Given the description of an element on the screen output the (x, y) to click on. 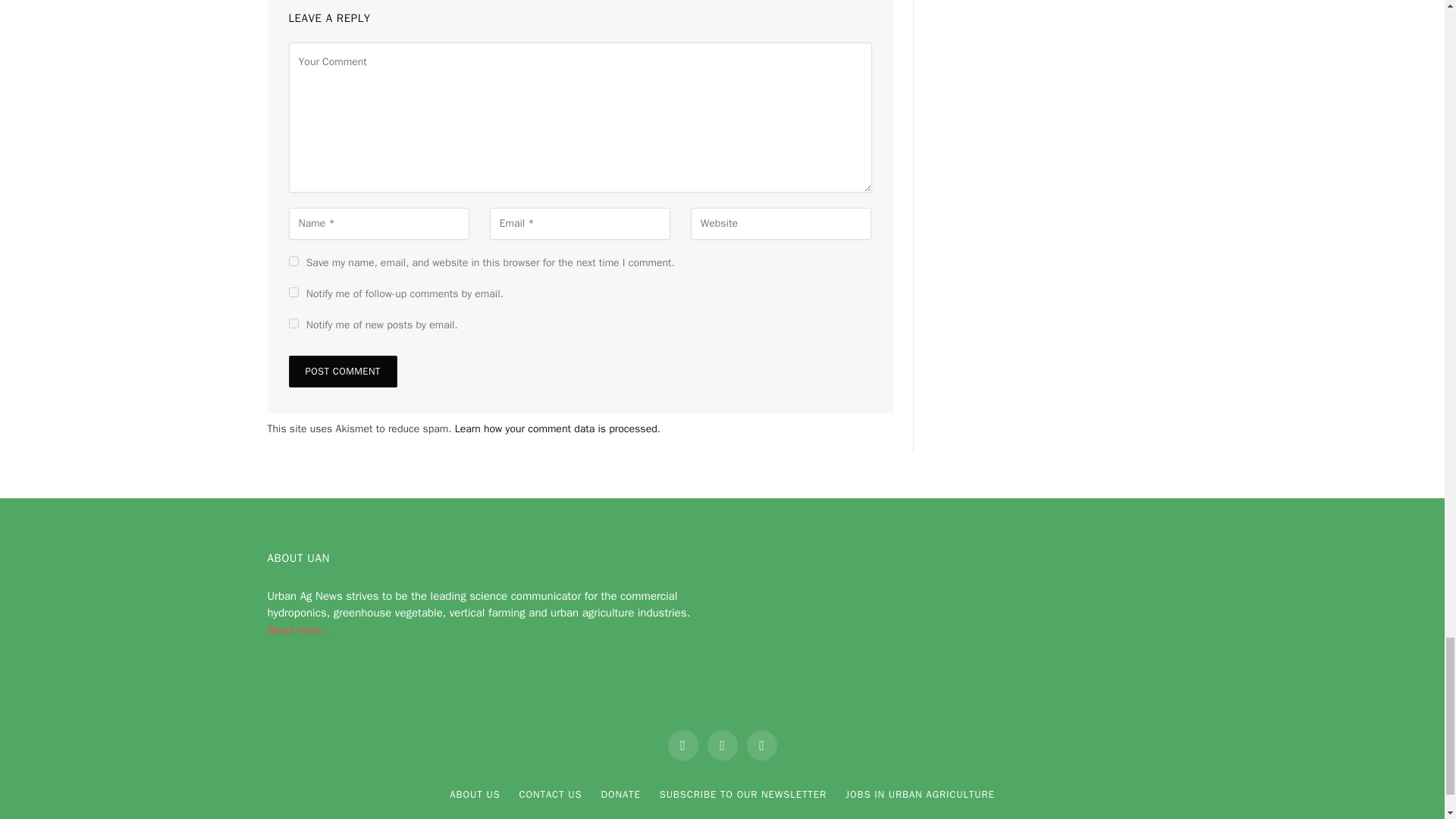
yes (293, 261)
subscribe (293, 292)
subscribe (293, 323)
Post Comment (342, 371)
